Given the description of an element on the screen output the (x, y) to click on. 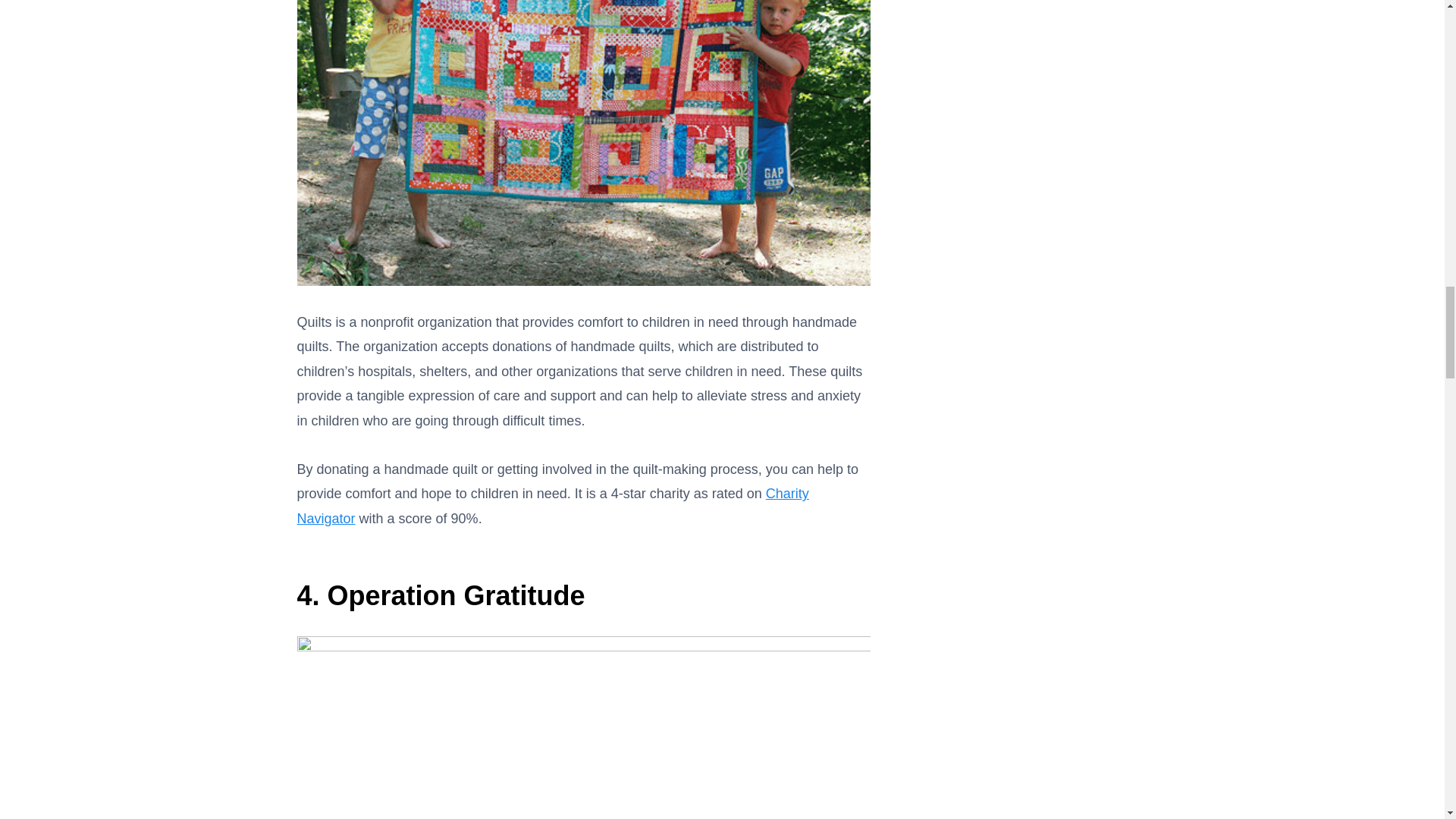
Charity Navigator (553, 505)
Operation Gratitude (456, 594)
